Given the description of an element on the screen output the (x, y) to click on. 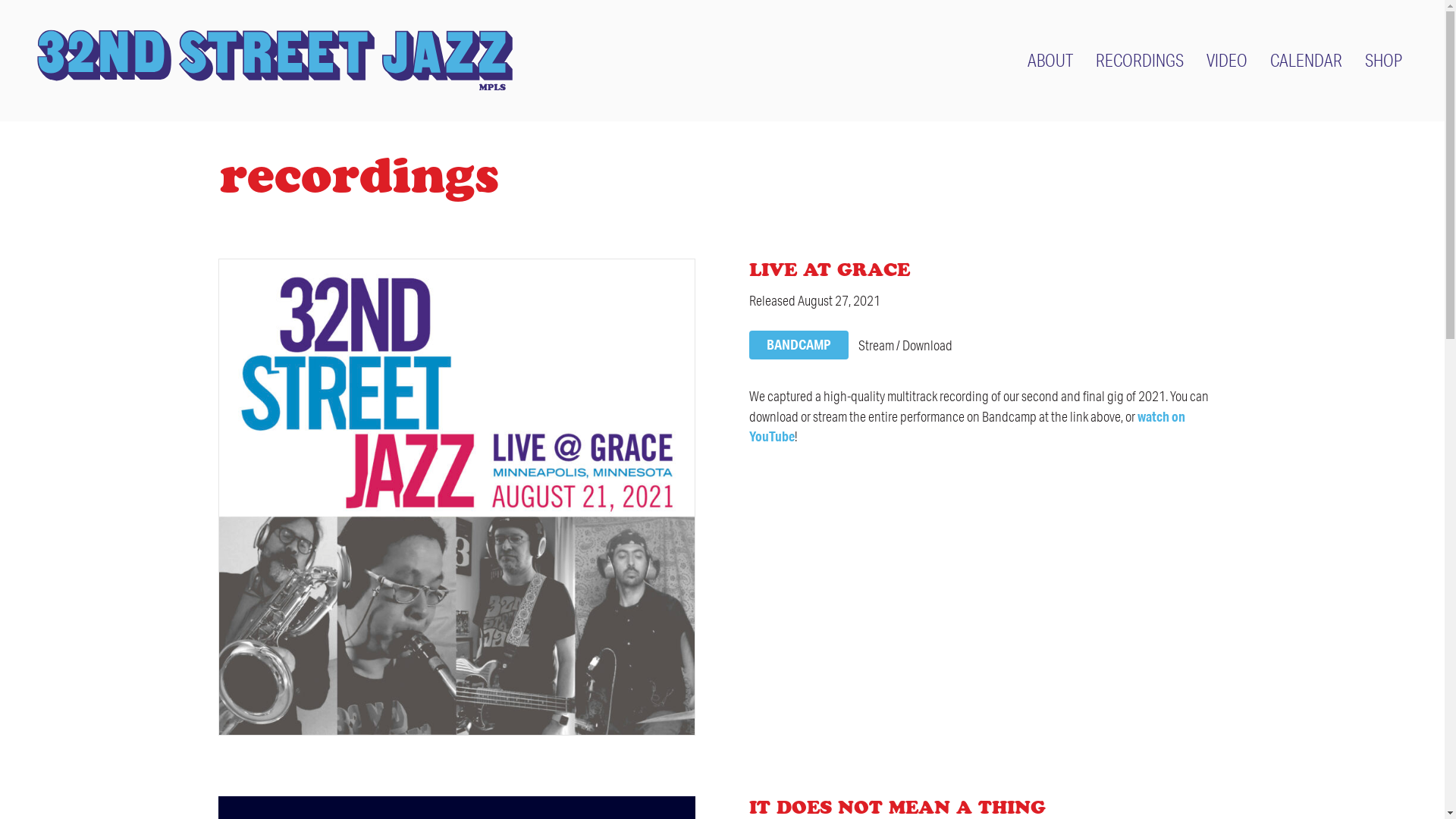
BANDCAMP Element type: text (798, 345)
watch on YouTube Element type: text (967, 425)
SHOP Element type: text (1383, 59)
ABOUT Element type: text (1050, 59)
VIDEO Element type: text (1226, 59)
32nd Street Jazz Element type: hover (274, 60)
RECORDINGS Element type: text (1139, 59)
CALENDAR Element type: text (1305, 59)
